Given the description of an element on the screen output the (x, y) to click on. 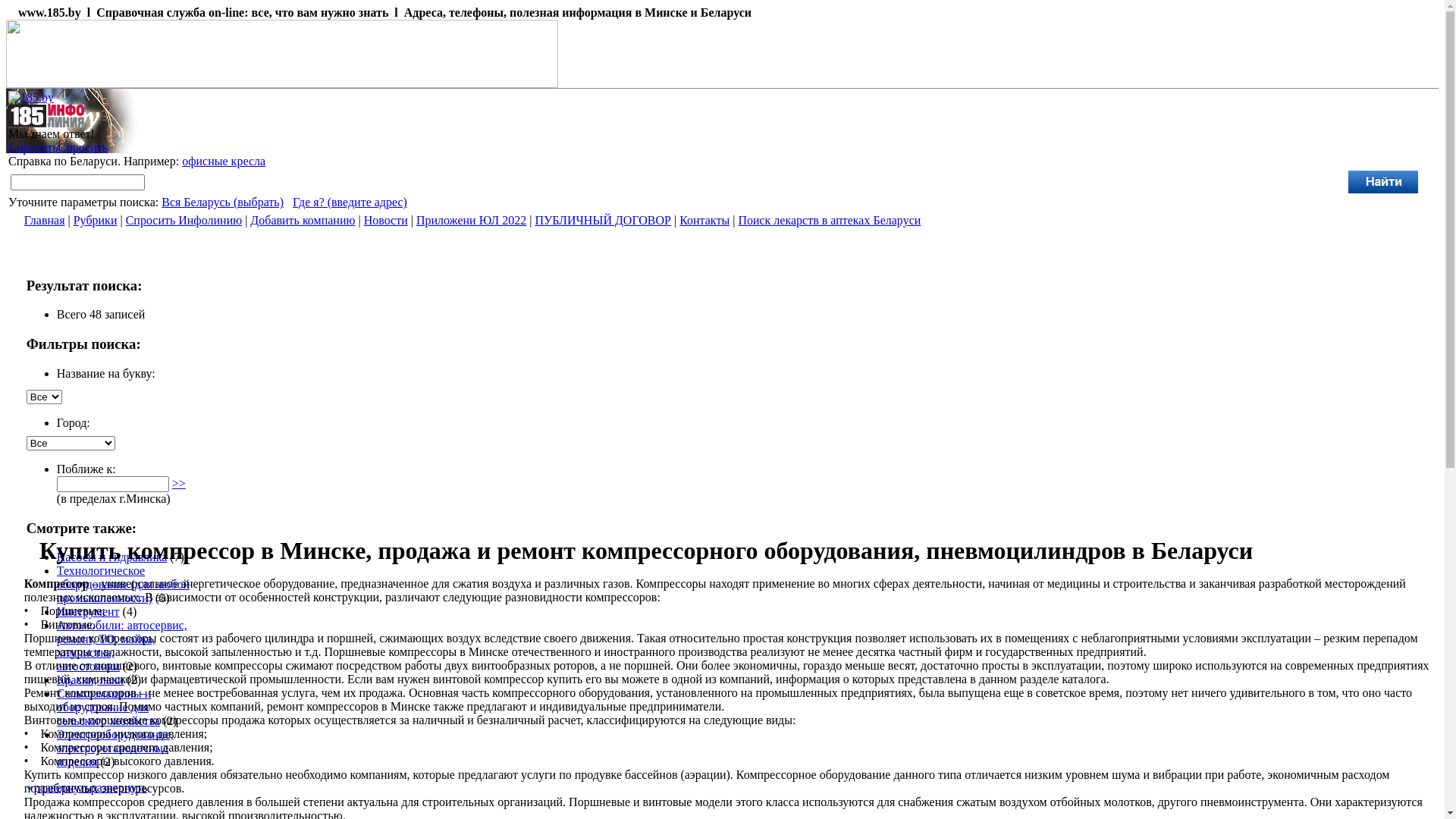
>> Element type: text (178, 482)
